Given the description of an element on the screen output the (x, y) to click on. 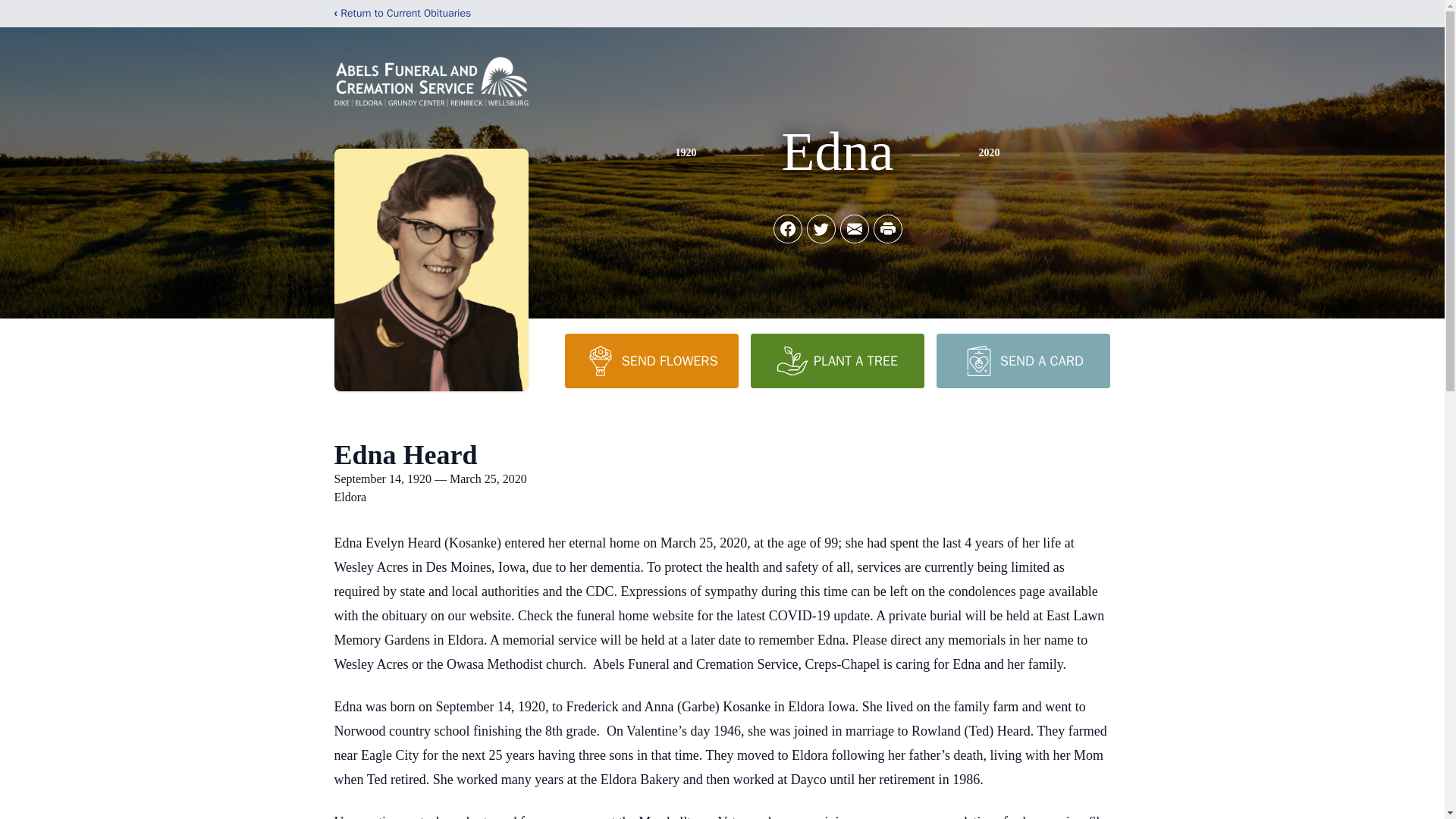
SEND A CARD (1022, 360)
PLANT A TREE (837, 360)
SEND FLOWERS (651, 360)
